Given the description of an element on the screen output the (x, y) to click on. 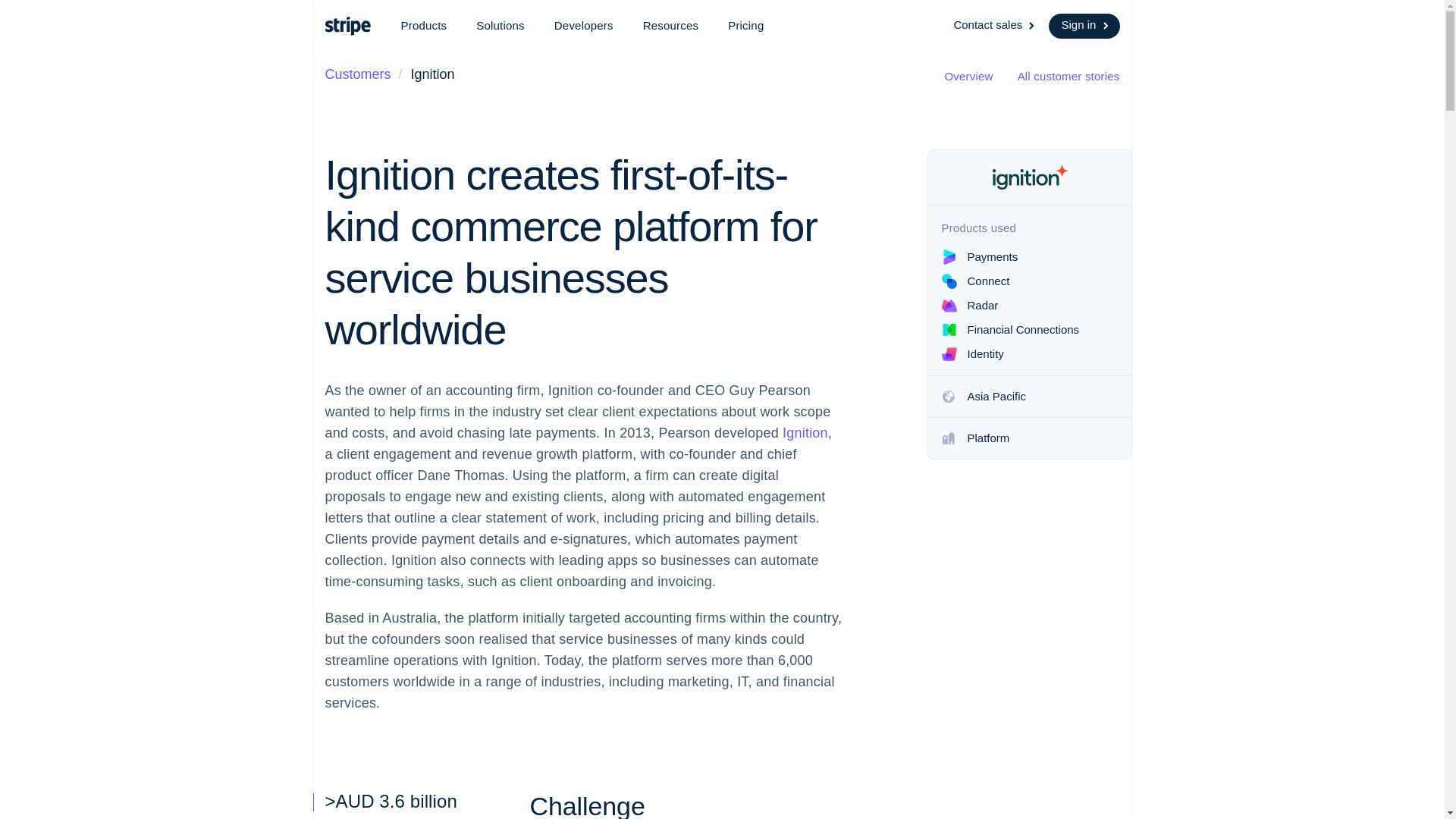
Pricing (745, 25)
Contact sales  (994, 25)
Solutions (500, 25)
Products (423, 25)
Sign in  (1083, 25)
Developers (583, 25)
Resources (670, 25)
